Given the description of an element on the screen output the (x, y) to click on. 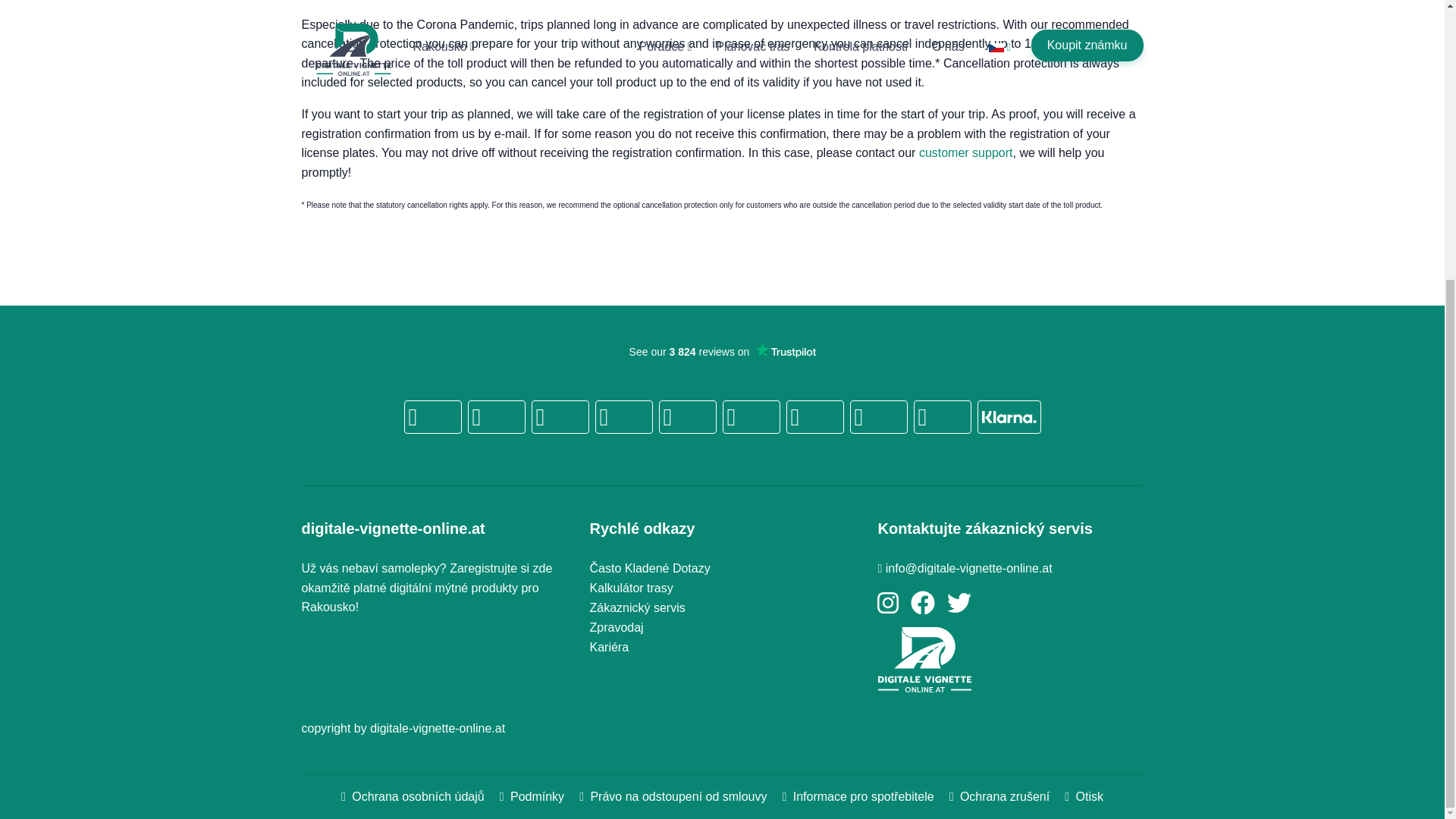
Customer reviews powered by Trustpilot (721, 399)
